Given the description of an element on the screen output the (x, y) to click on. 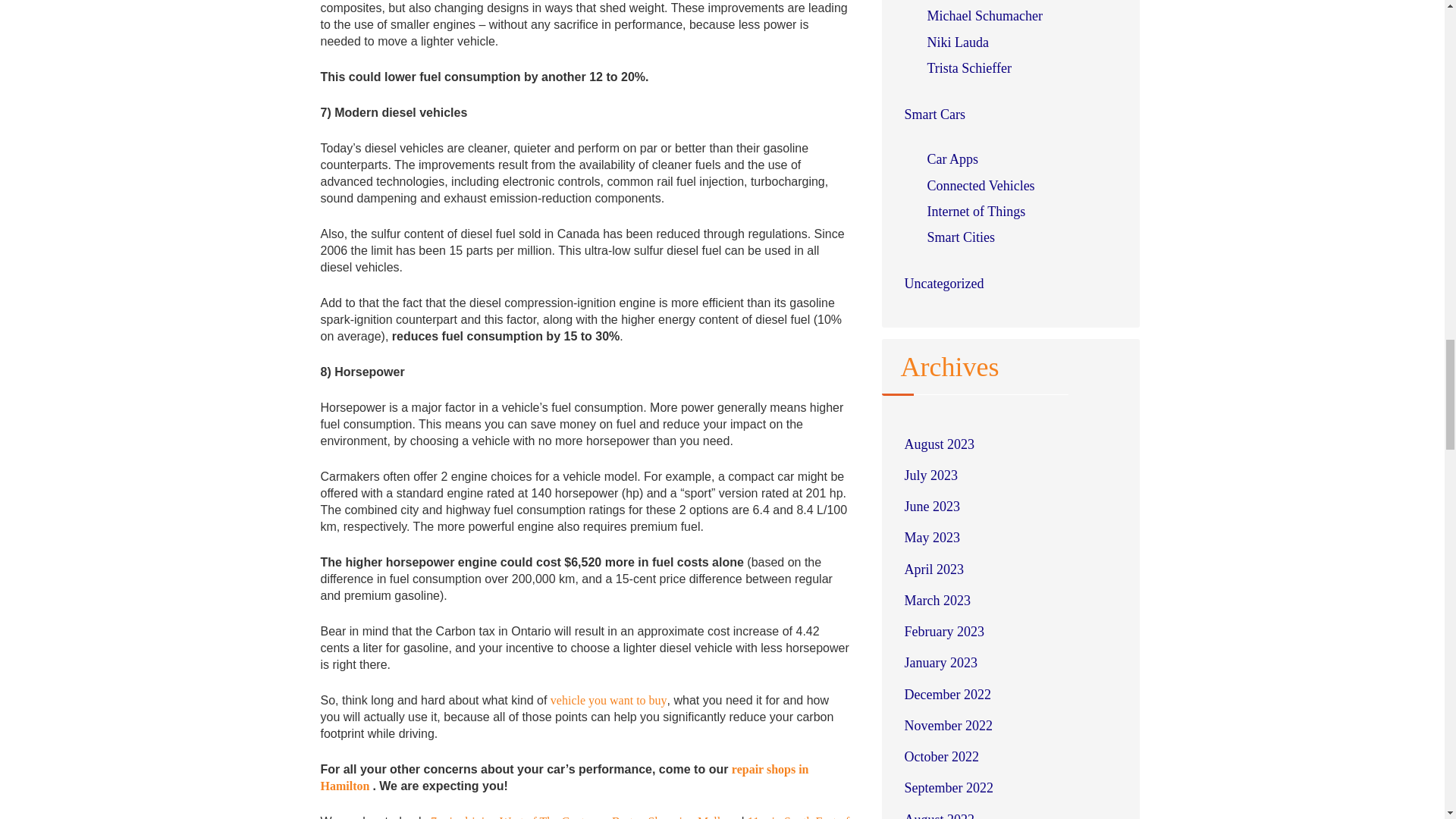
7 min driving West of The Centre on Barton Shopping Mall (575, 816)
repair shops in Hamilton (564, 777)
vehicle you want to buy (608, 699)
